Given the description of an element on the screen output the (x, y) to click on. 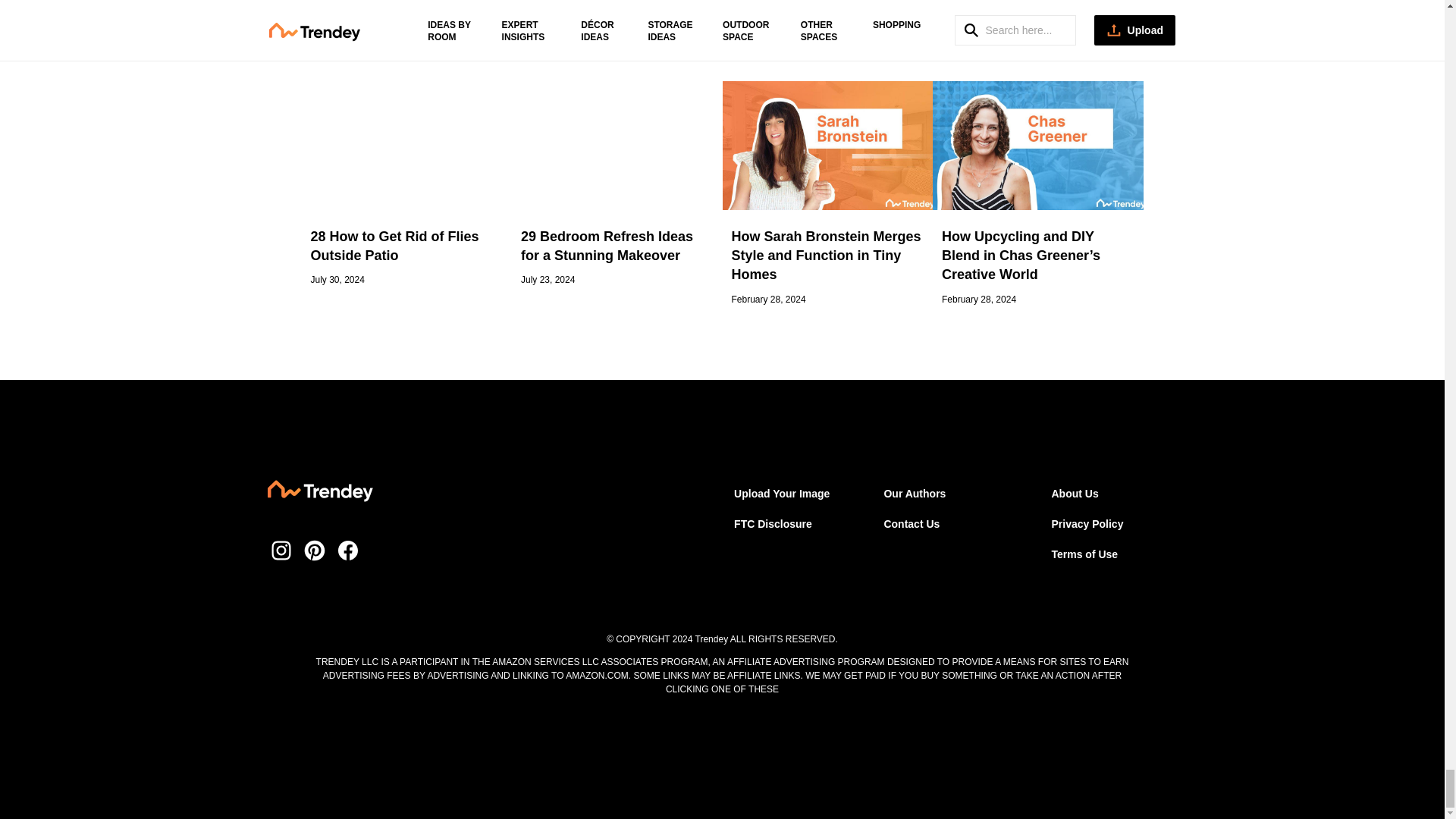
Trendey (319, 492)
